Given the description of an element on the screen output the (x, y) to click on. 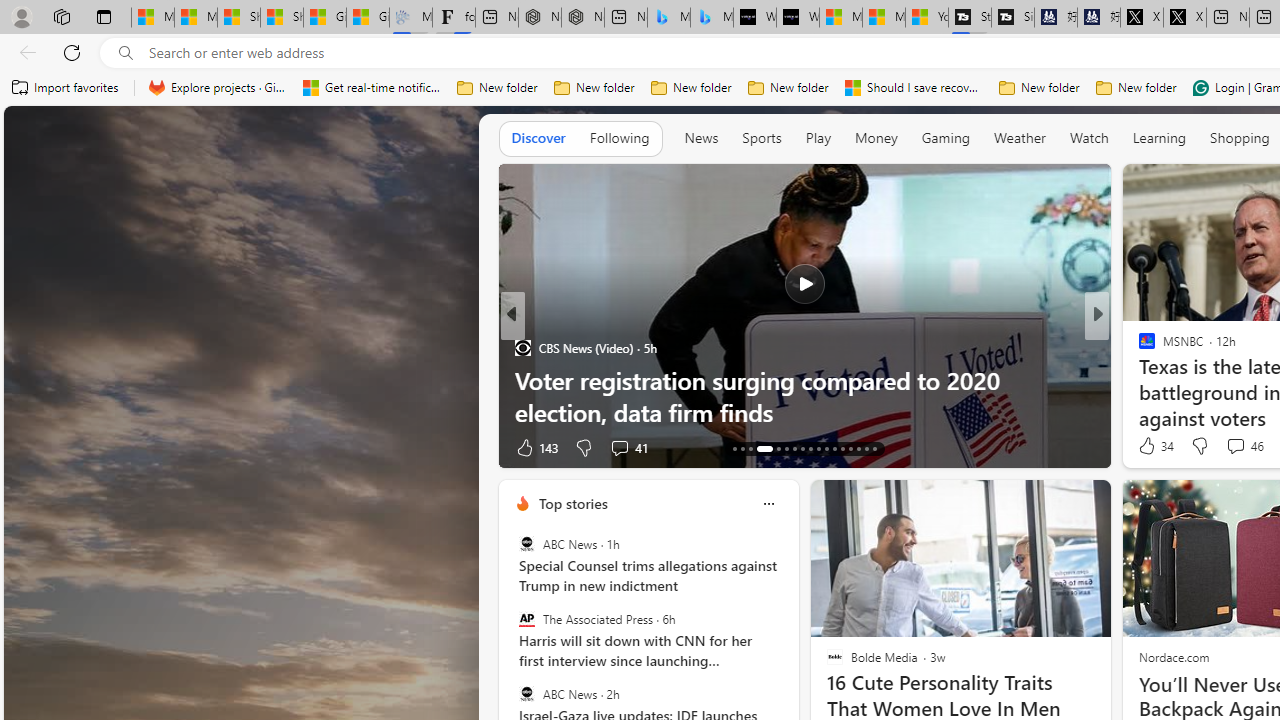
View comments 26 Comment (1237, 447)
AutomationID: tab-19 (793, 448)
AutomationID: tab-17 (772, 448)
Gaming (945, 138)
View comments 46 Comment (1234, 445)
108 Like (1151, 447)
59 Like (1149, 447)
AutomationID: tab-15 (750, 448)
Nordace.com (1173, 656)
Search icon (125, 53)
95 Like (1149, 447)
49 Like (1149, 447)
AutomationID: tab-42 (874, 448)
